Given the description of an element on the screen output the (x, y) to click on. 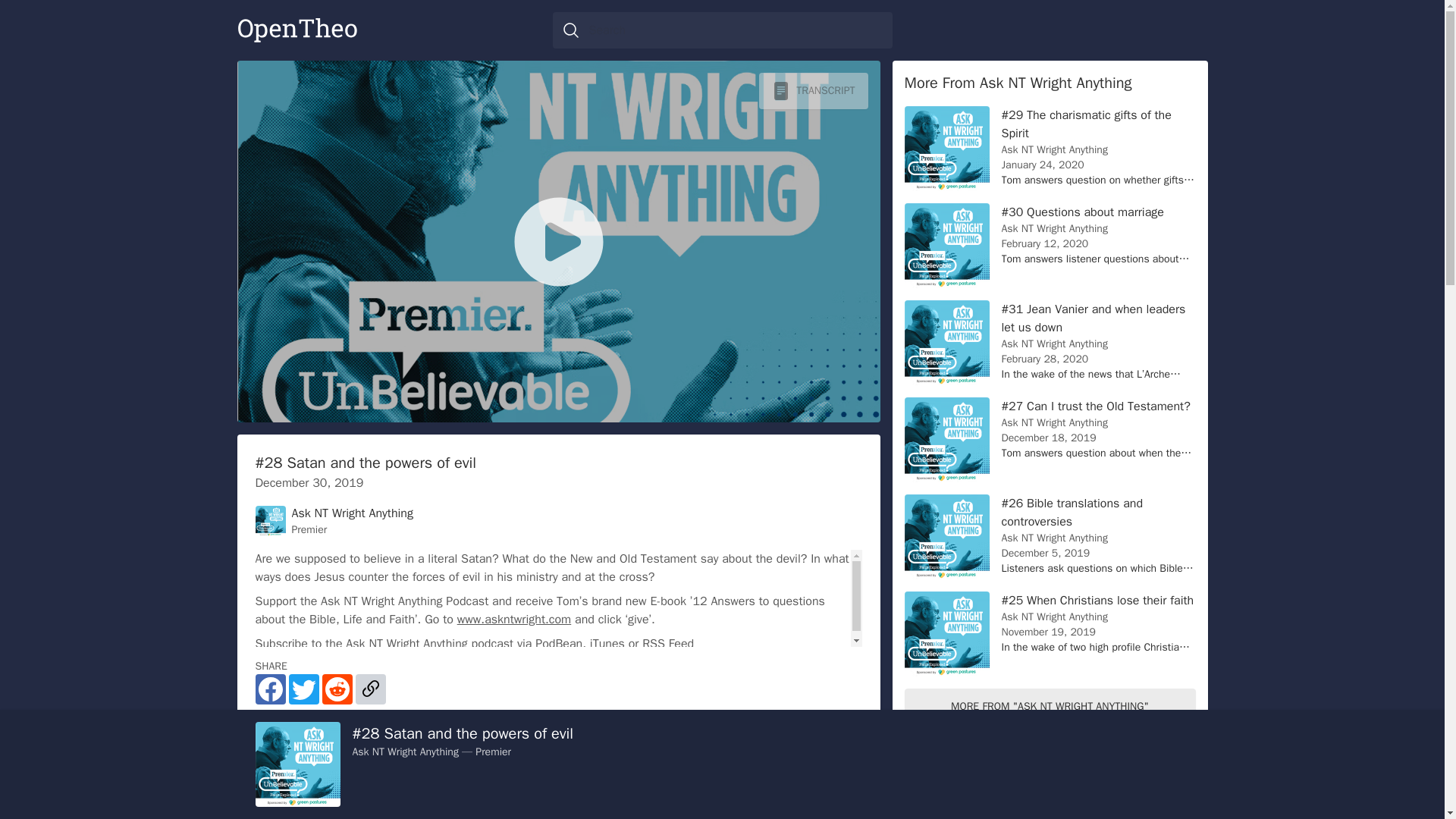
MORE FROM "ASK NT WRIGHT ANYTHING" (1049, 706)
www.askntwright.com (514, 619)
Download PDF (849, 764)
OpenTheo (295, 30)
TRANSCRIPT (812, 90)
